Given the description of an element on the screen output the (x, y) to click on. 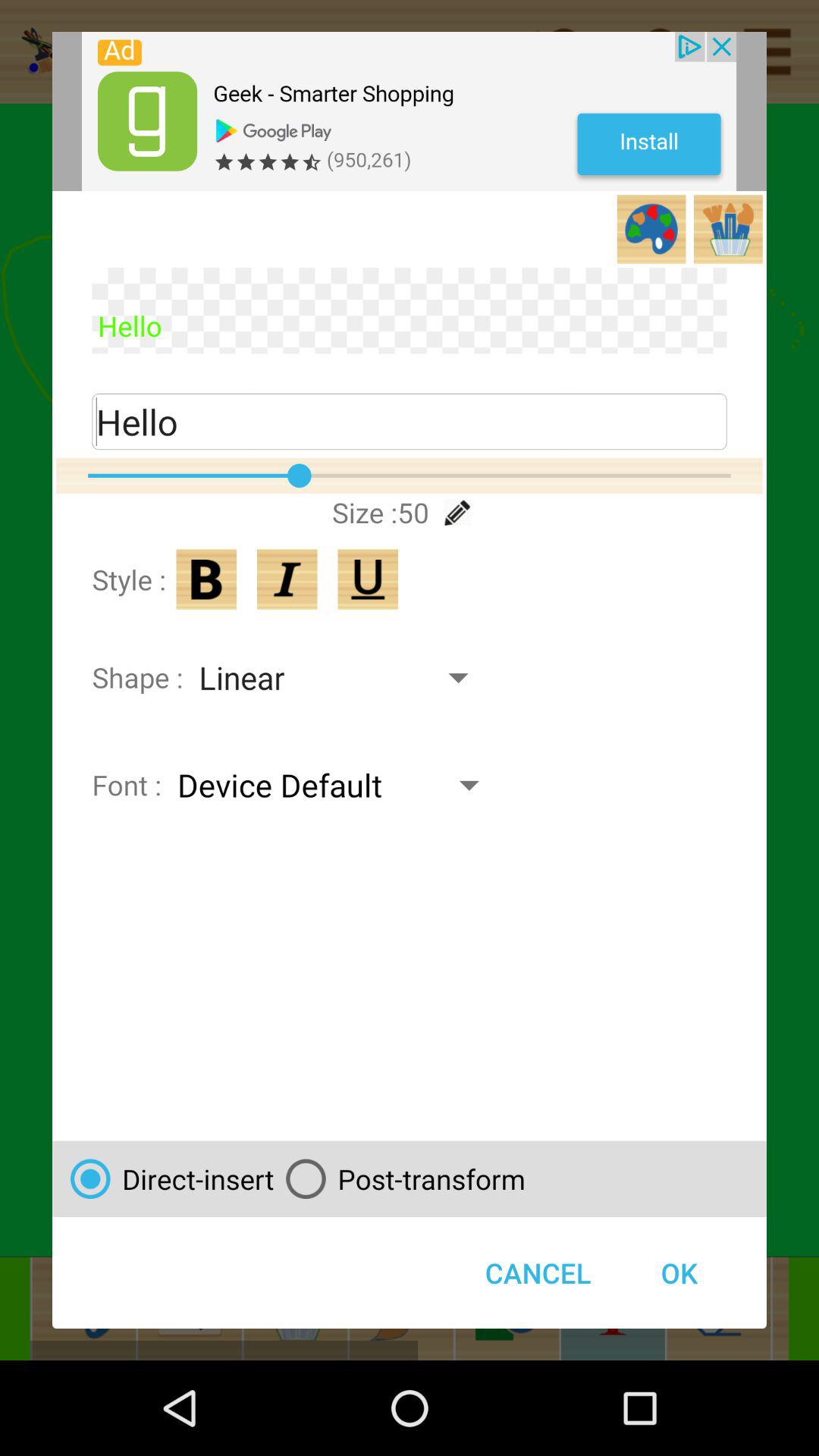
paintastic draw color paint (408, 111)
